Given the description of an element on the screen output the (x, y) to click on. 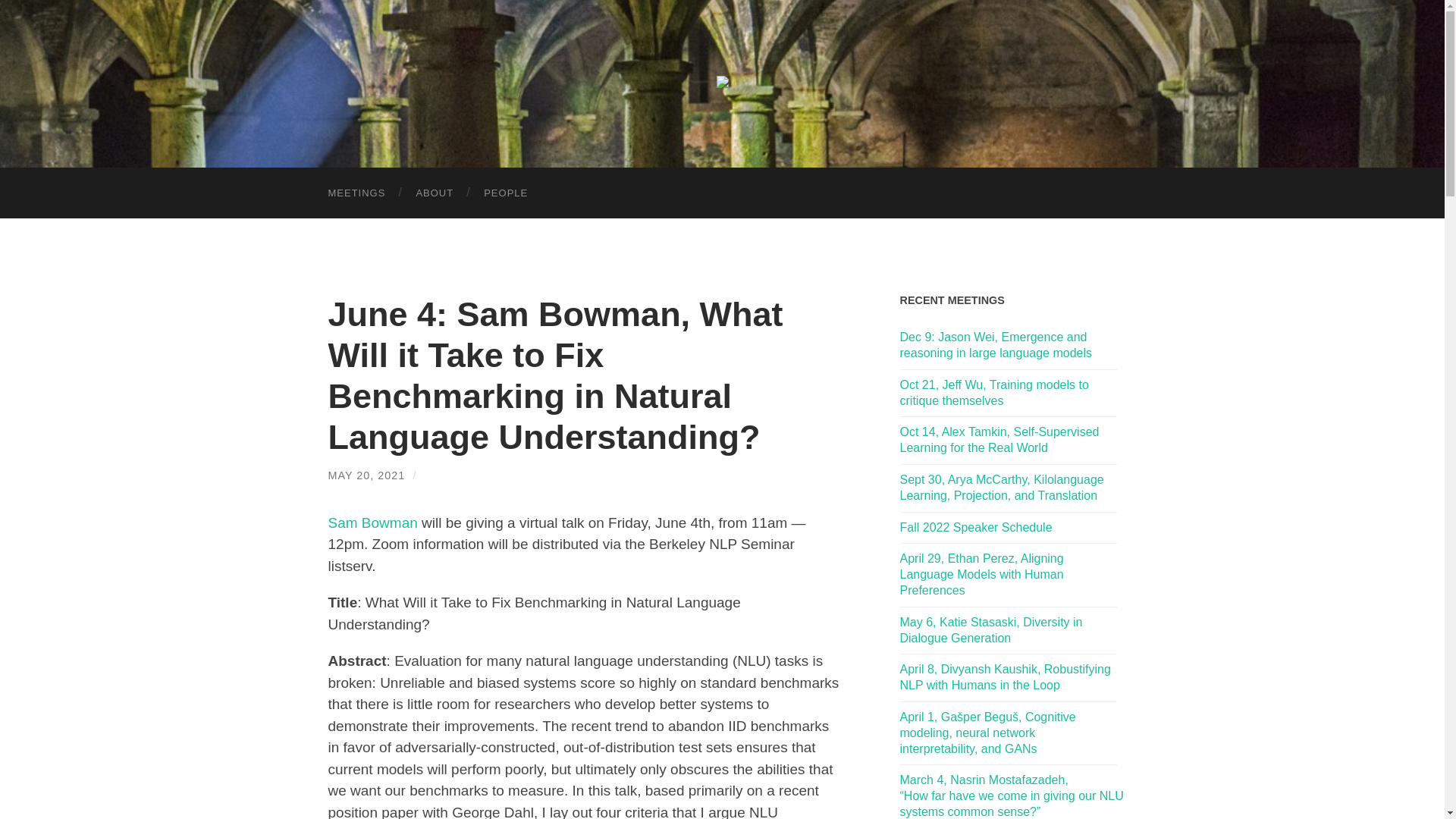
May 6, Katie Stasaski, Diversity in Dialogue Generation (1007, 631)
Sam Bowman (371, 522)
ABOUT (434, 192)
Berkeley NLP Seminar (722, 81)
MEETINGS (356, 192)
PEOPLE (505, 192)
